Given the description of an element on the screen output the (x, y) to click on. 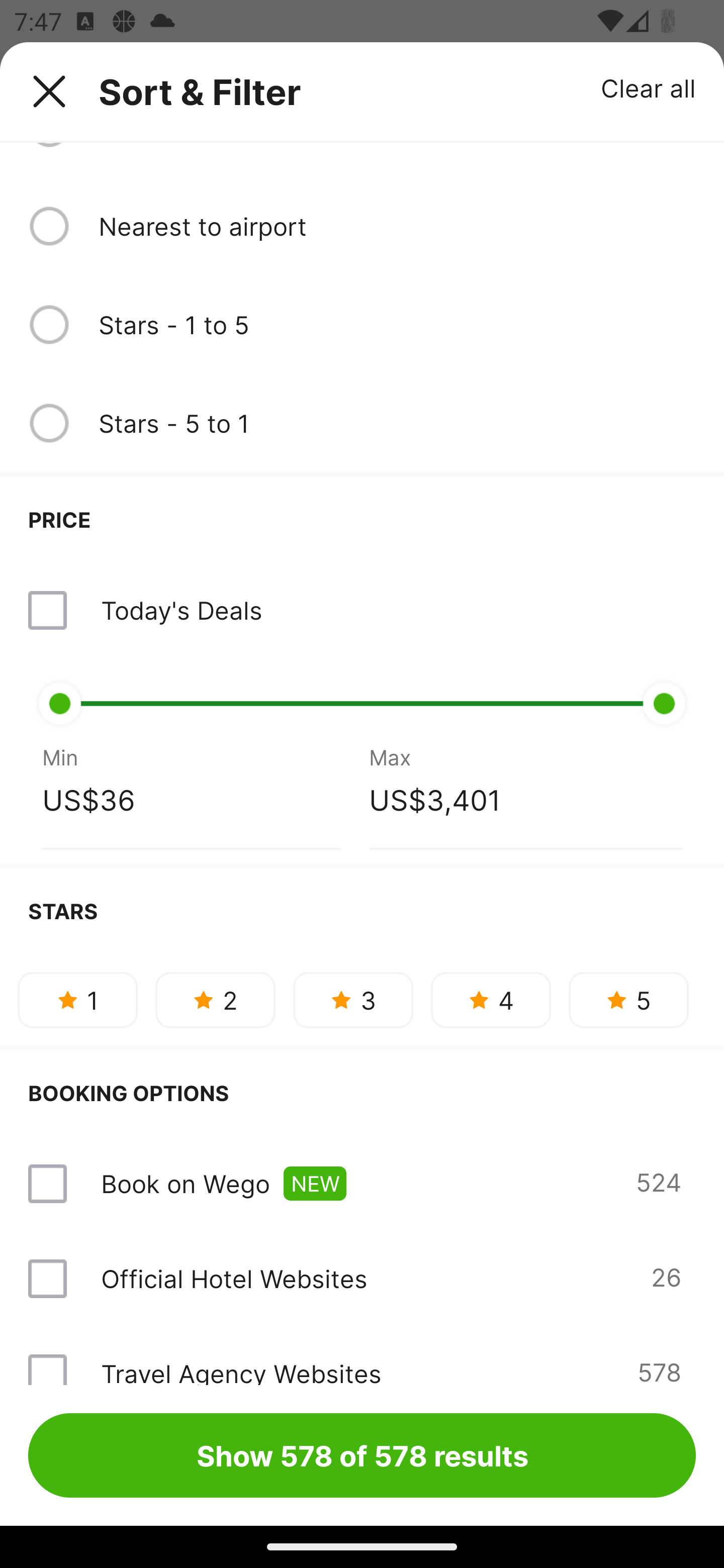
Clear all (648, 87)
Nearest to airport (396, 225)
Stars - 1 to 5 (396, 324)
Stars - 5 to 1 (396, 423)
Today's Deals (362, 610)
Today's Deals (181, 609)
1 (77, 1000)
2 (214, 1000)
3 (352, 1000)
4 (491, 1000)
5 (627, 1000)
Book on Wego NEW 524 (362, 1183)
Book on Wego (184, 1183)
Official Hotel Websites 26 (362, 1278)
Official Hotel Websites (233, 1278)
Travel Agency Websites 578 (362, 1355)
Travel Agency Websites (240, 1370)
Show 578 of 578 results (361, 1454)
